Given the description of an element on the screen output the (x, y) to click on. 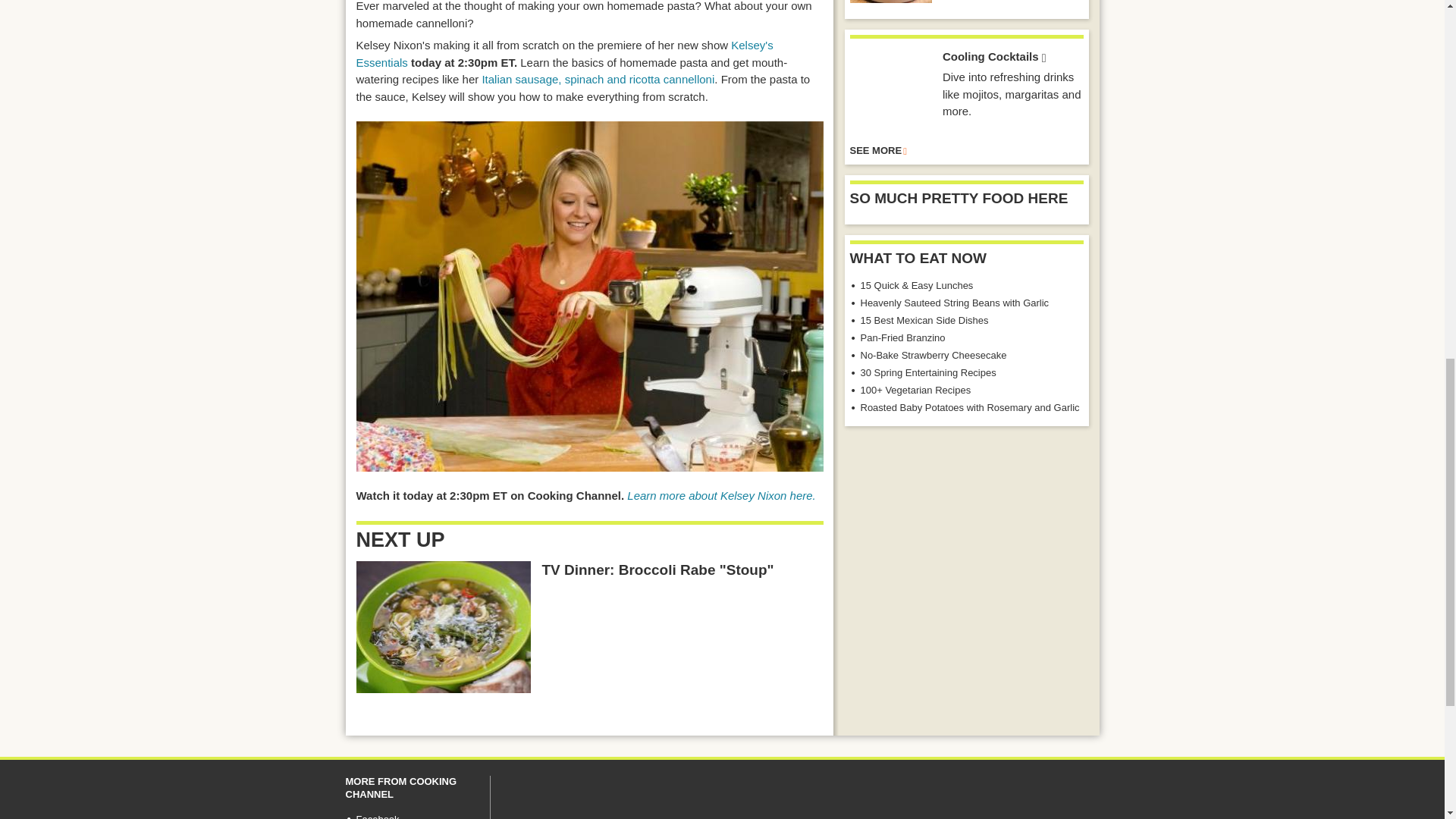
Kelsey's Essentials (564, 53)
TV Dinner: Broccoli Rabe "Stoup" (443, 626)
Learn more about Kelsey Nixon here. (721, 495)
Italian sausage, spinach and ricotta cannelloni (597, 78)
TV Dinner: Broccoli Rabe "Stoup" (657, 570)
